Given the description of an element on the screen output the (x, y) to click on. 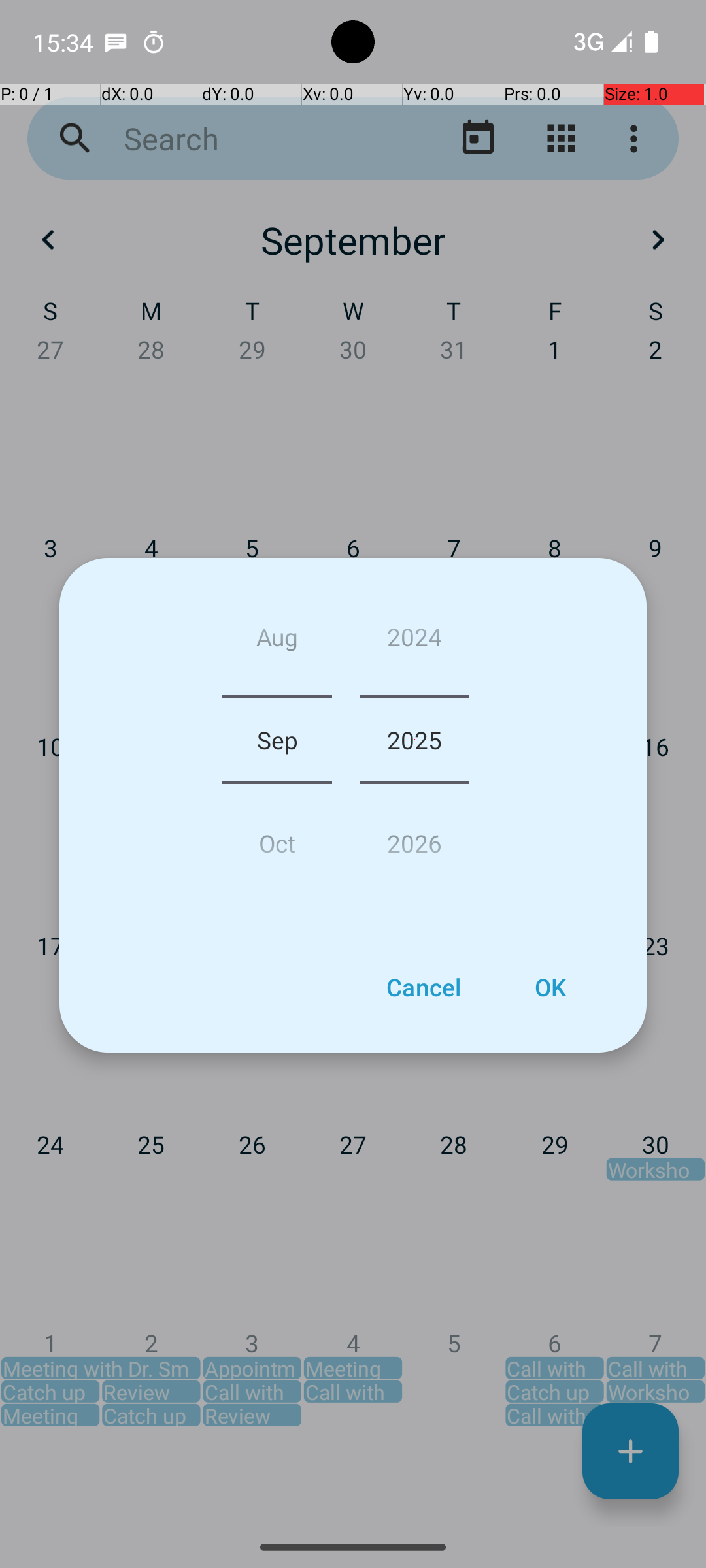
Aug Element type: android.widget.Button (277, 641)
